Given the description of an element on the screen output the (x, y) to click on. 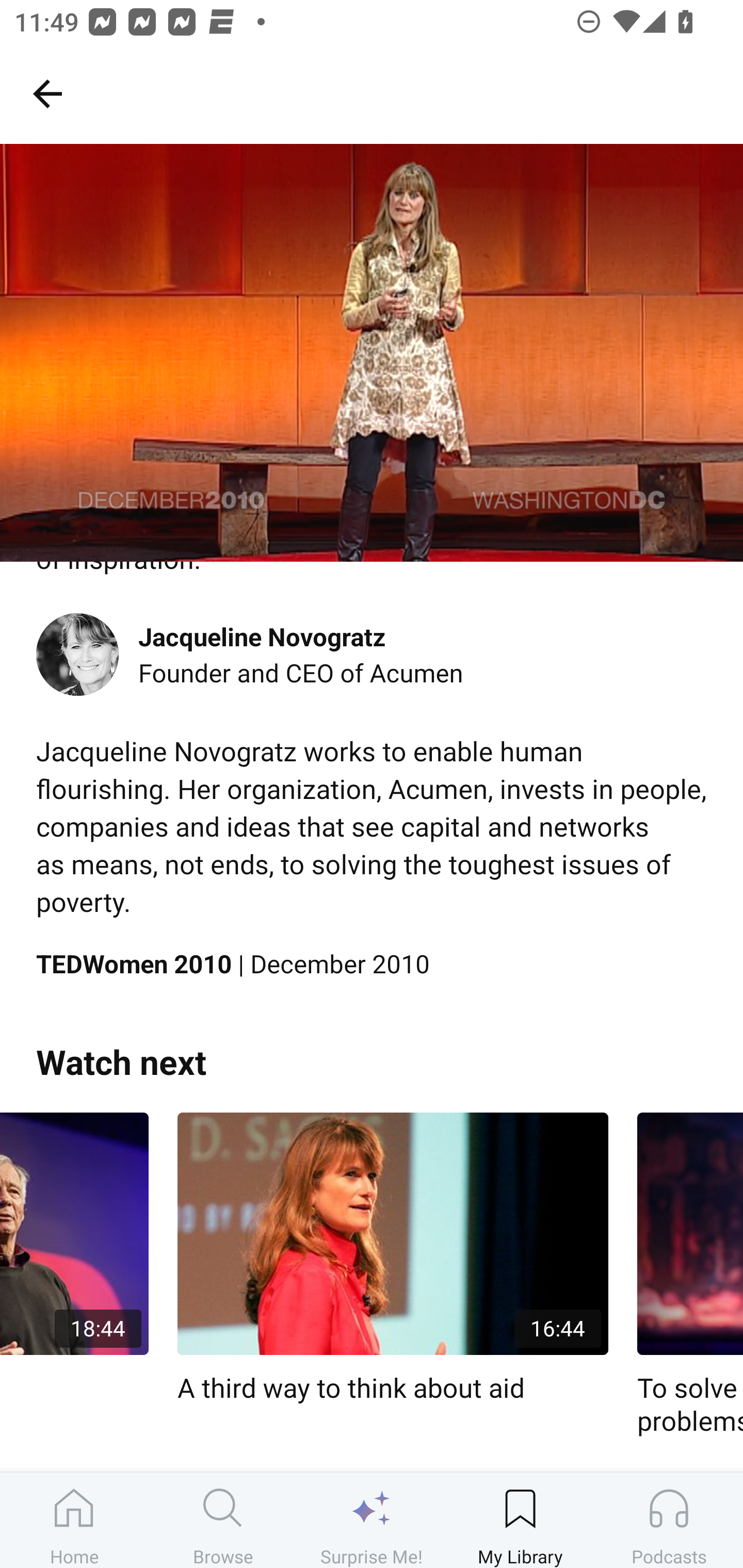
My Library, back (47, 92)
16:44 A third way to think about aid (392, 1258)
Home (74, 1520)
Browse (222, 1520)
Surprise Me! (371, 1520)
My Library (519, 1520)
Podcasts (668, 1520)
